Given the description of an element on the screen output the (x, y) to click on. 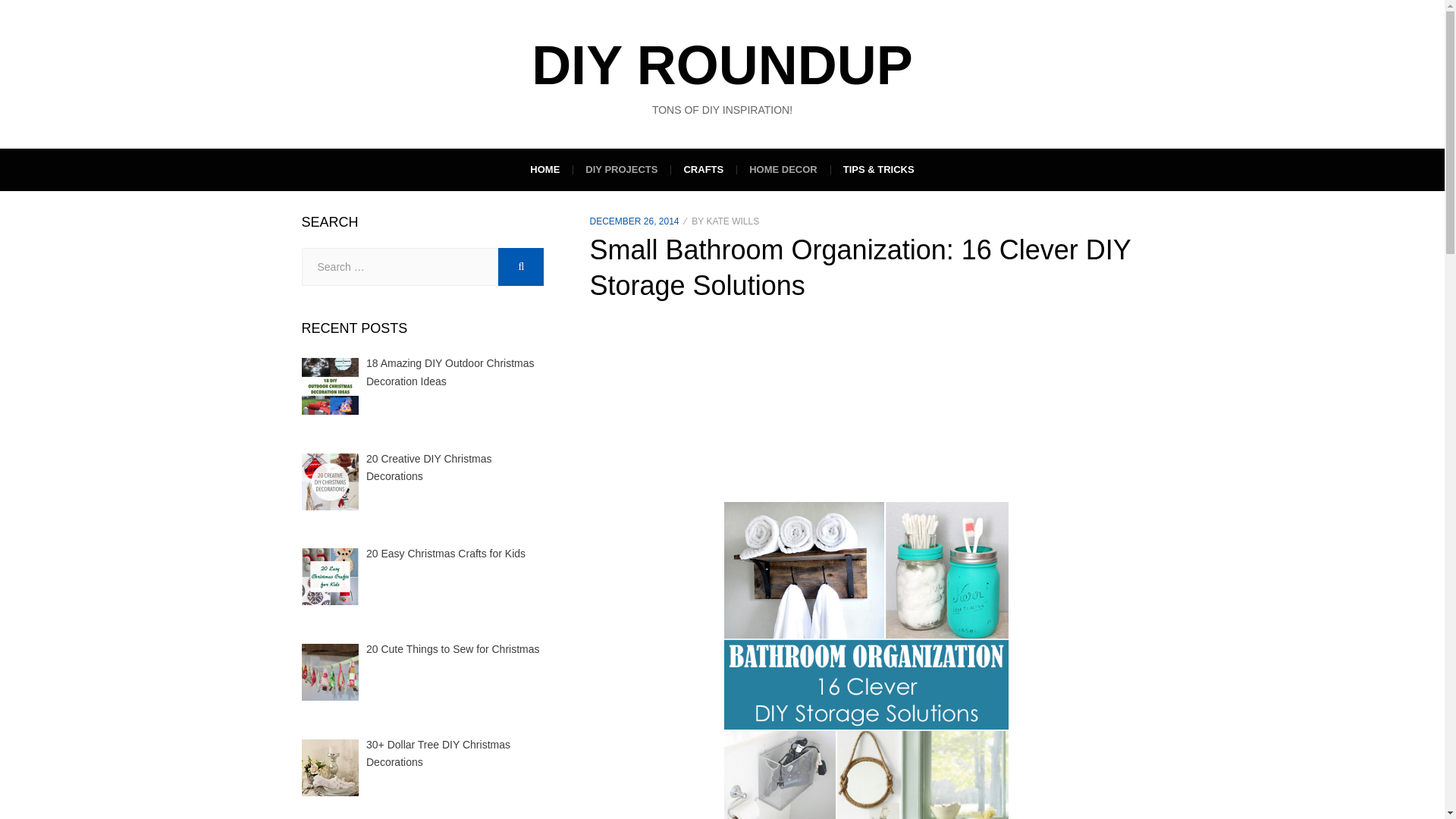
DIY PROJECTS (620, 169)
KATE WILLS (732, 221)
20 Easy Christmas Crafts for Kids (445, 553)
CRAFTS (702, 169)
HOME (544, 169)
20 Creative DIY Christmas Decorations (429, 467)
18 Amazing DIY Outdoor Christmas Decoration Ideas (450, 372)
DECEMBER 26, 2014 (633, 221)
DIY ROUNDUP (721, 65)
HOME DECOR (782, 169)
